Given the description of an element on the screen output the (x, y) to click on. 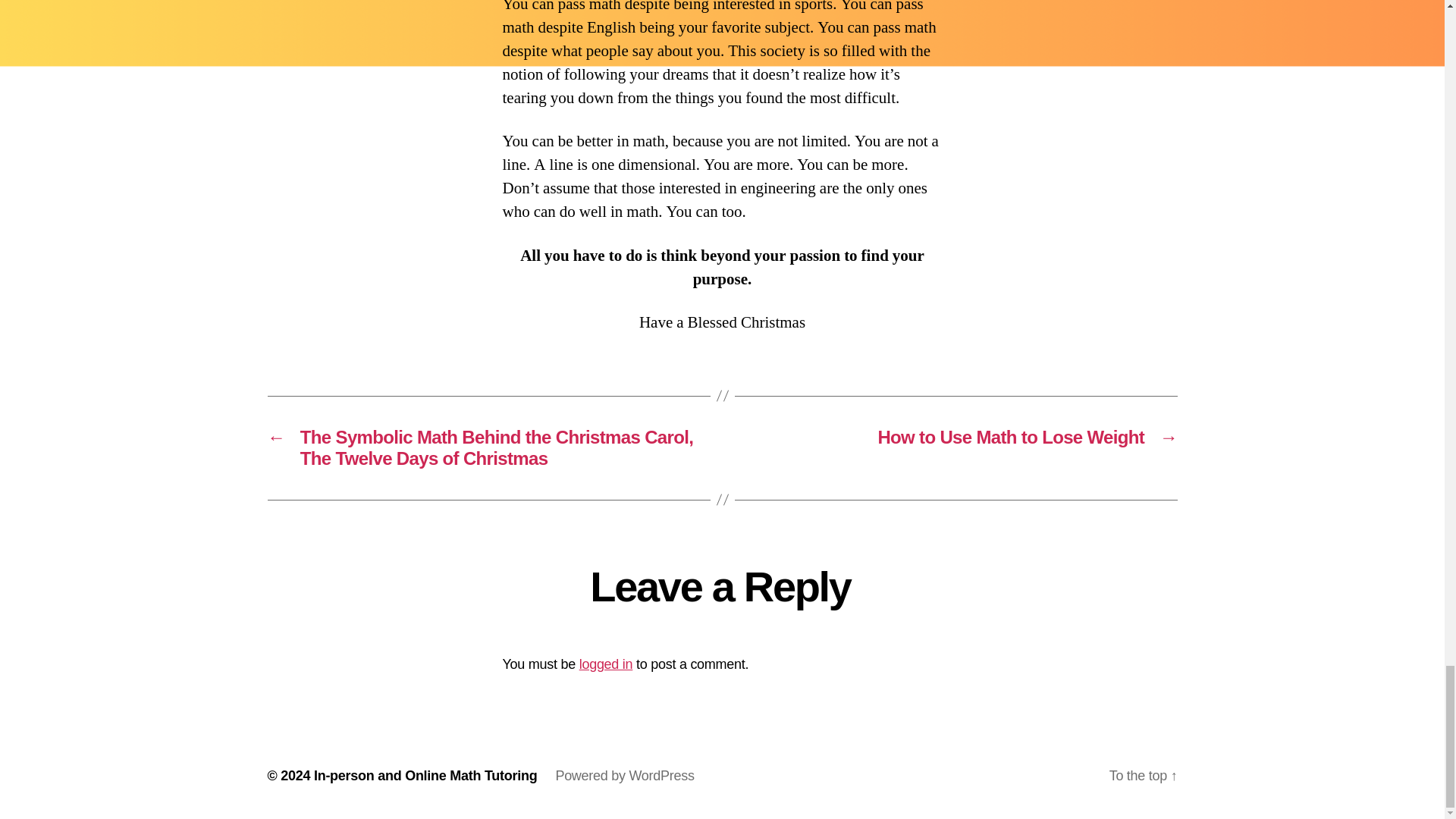
In-person and Online Math Tutoring (425, 775)
logged in (606, 663)
Powered by WordPress (624, 775)
